Given the description of an element on the screen output the (x, y) to click on. 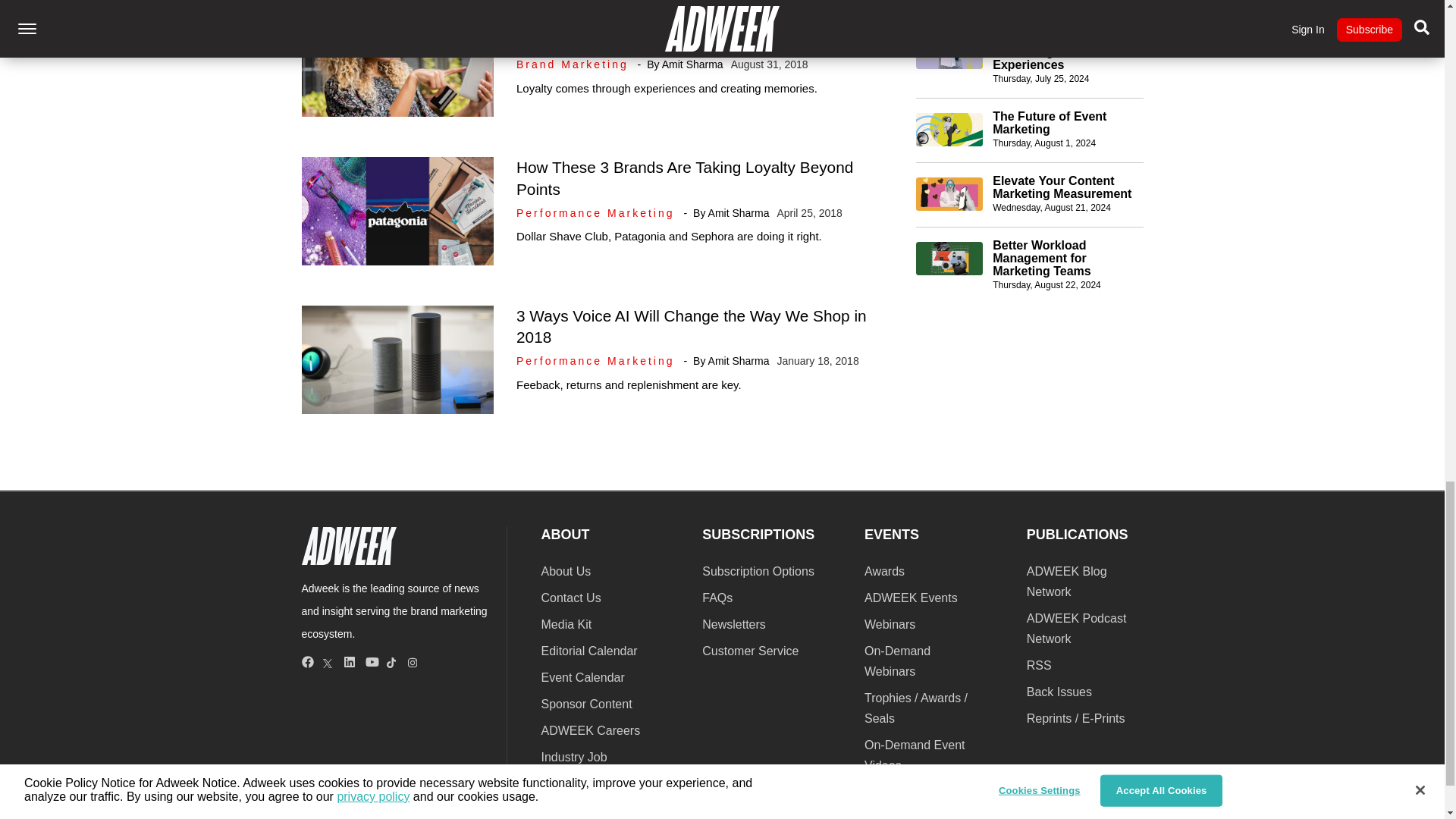
Amit Sharma (738, 213)
How These 3 Brands Are Taking Loyalty Beyond Points (684, 177)
Adobe-Webinar-082224-Header (948, 258)
CventWebinar08012Header (948, 129)
Amit Sharma (692, 64)
Nativo-Webinar-082124-Header (948, 193)
